Given the description of an element on the screen output the (x, y) to click on. 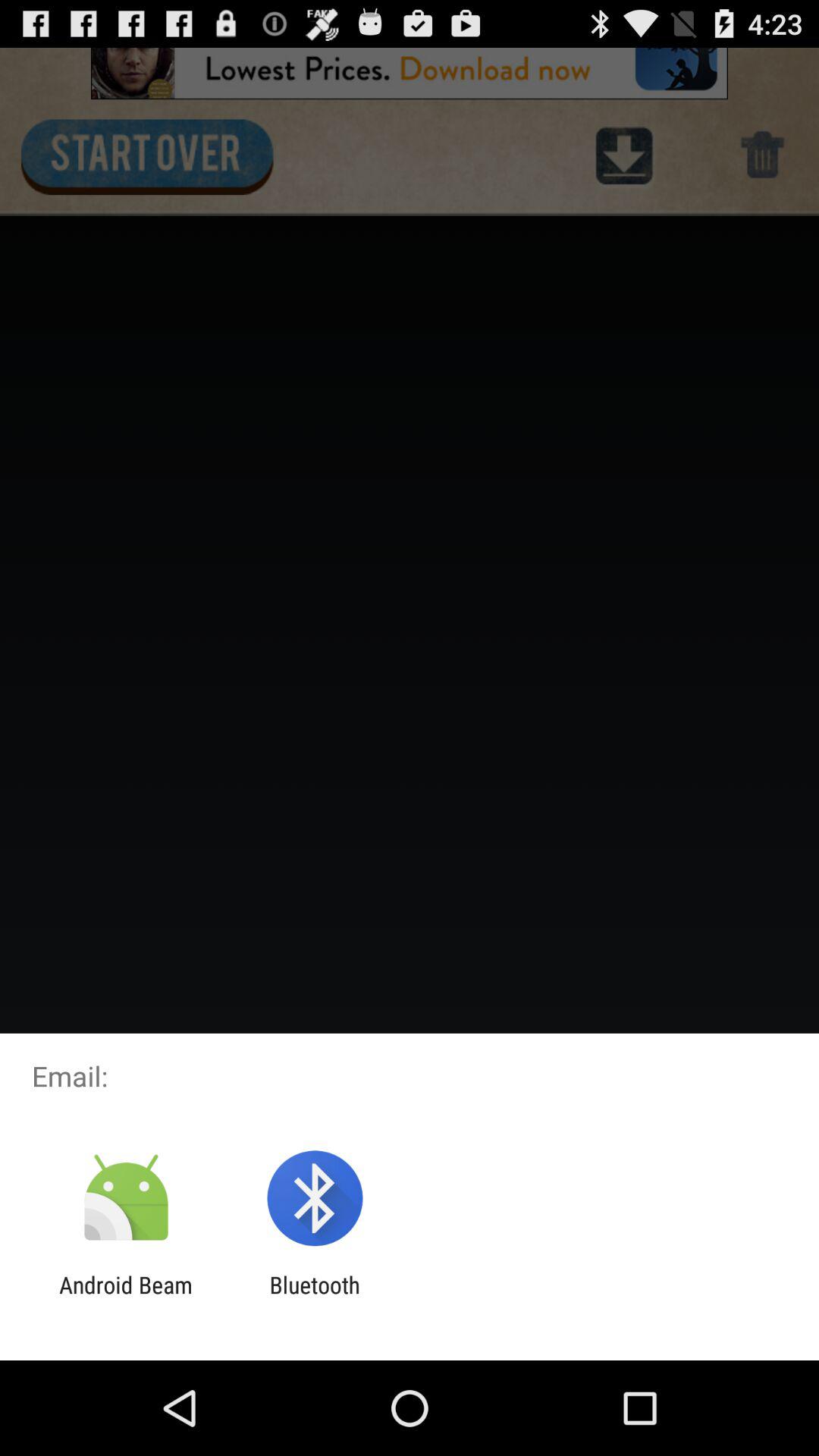
swipe until bluetooth app (314, 1298)
